Given the description of an element on the screen output the (x, y) to click on. 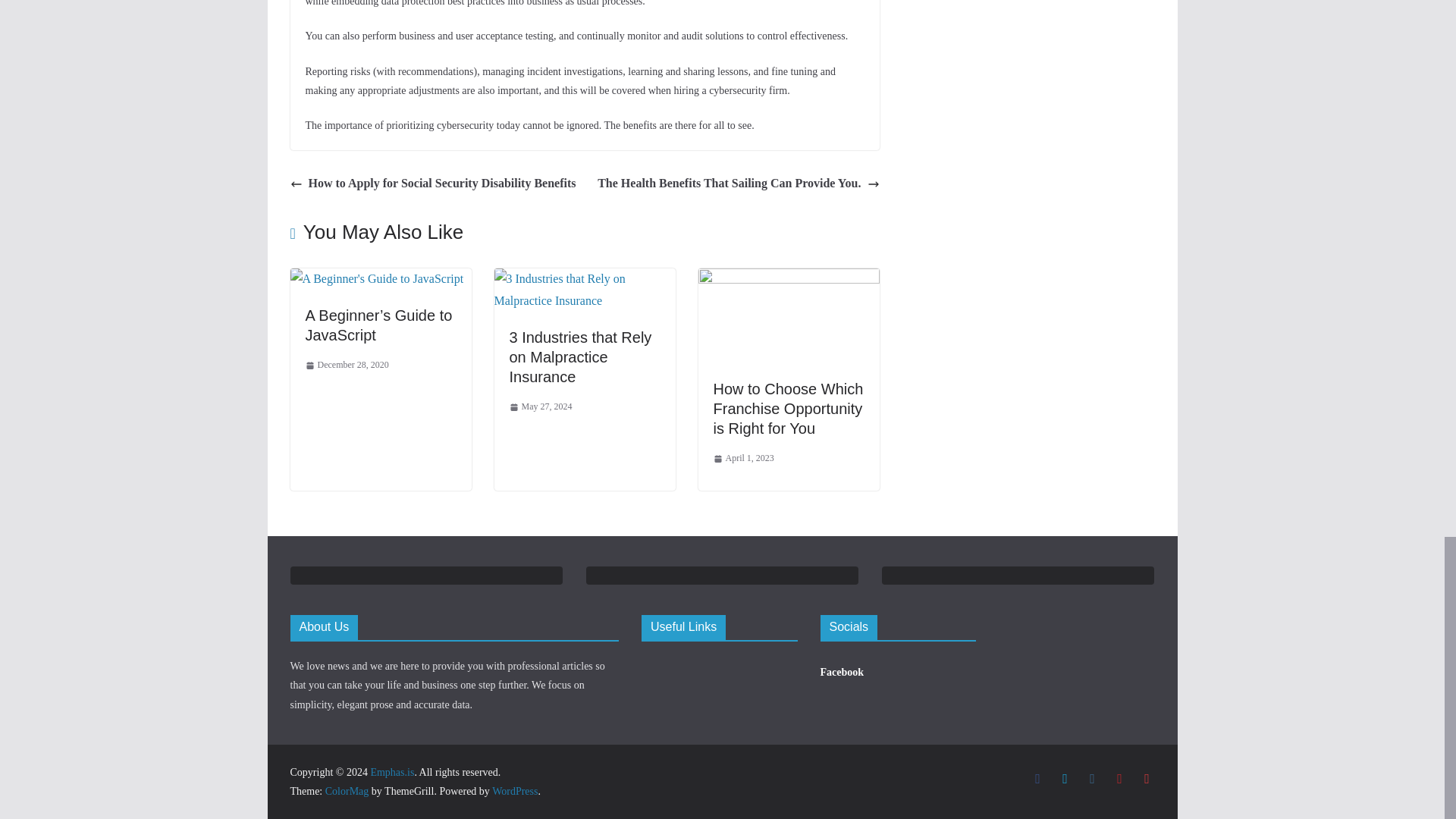
December 28, 2020 (346, 365)
3 Industries that Rely on Malpractice Insurance (585, 278)
April 1, 2023 (743, 458)
6:06 pm (346, 365)
How to Apply for Social Security Disability Benefits (432, 183)
3 Industries that Rely on Malpractice Insurance (580, 356)
How to Choose Which Franchise Opportunity is Right for You (788, 408)
The Health Benefits That Sailing Can Provide You. (737, 183)
May 27, 2024 (540, 406)
